Given the description of an element on the screen output the (x, y) to click on. 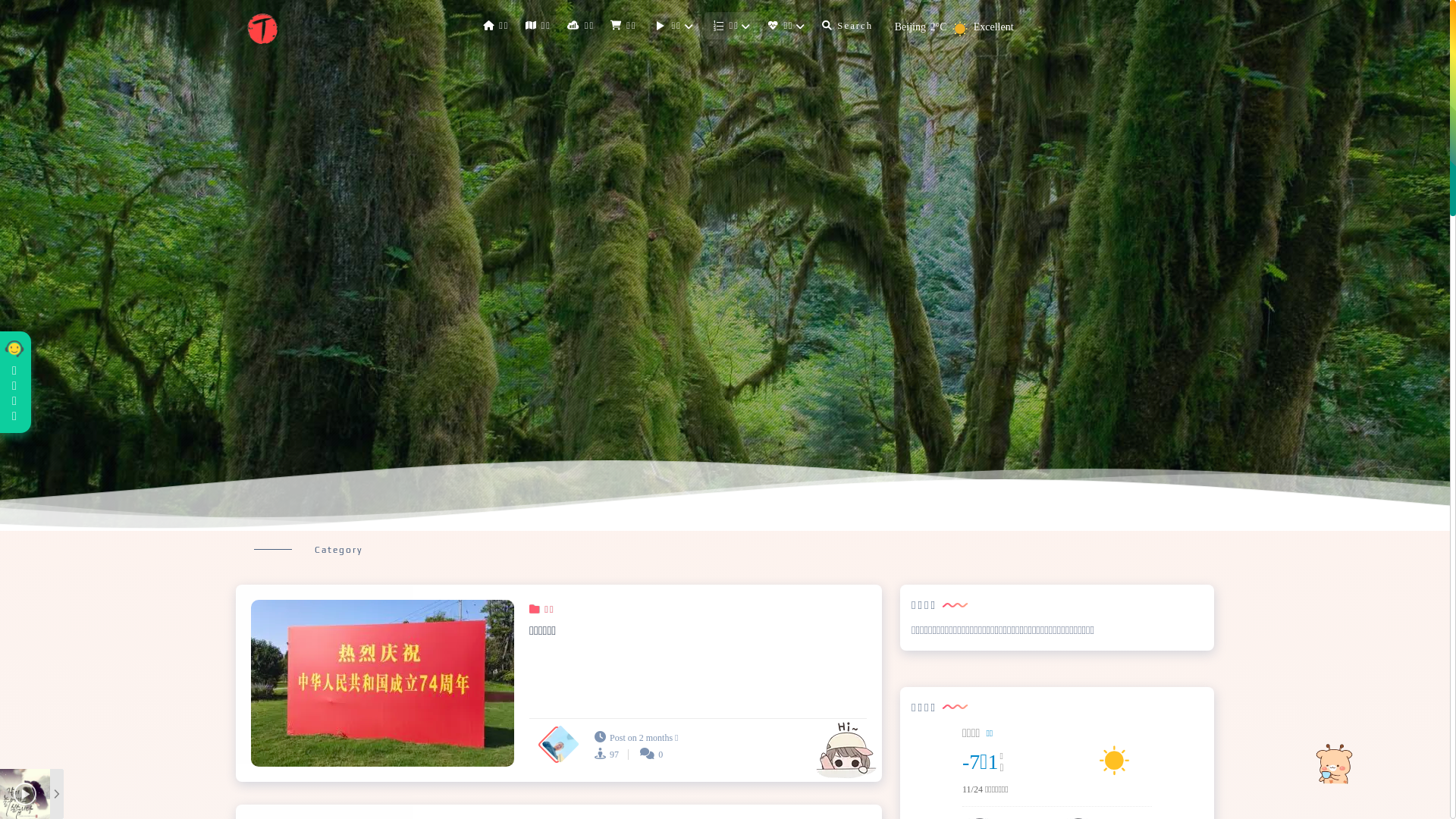
boxmoe Element type: hover (262, 28)
Search Element type: text (846, 25)
